Given the description of an element on the screen output the (x, y) to click on. 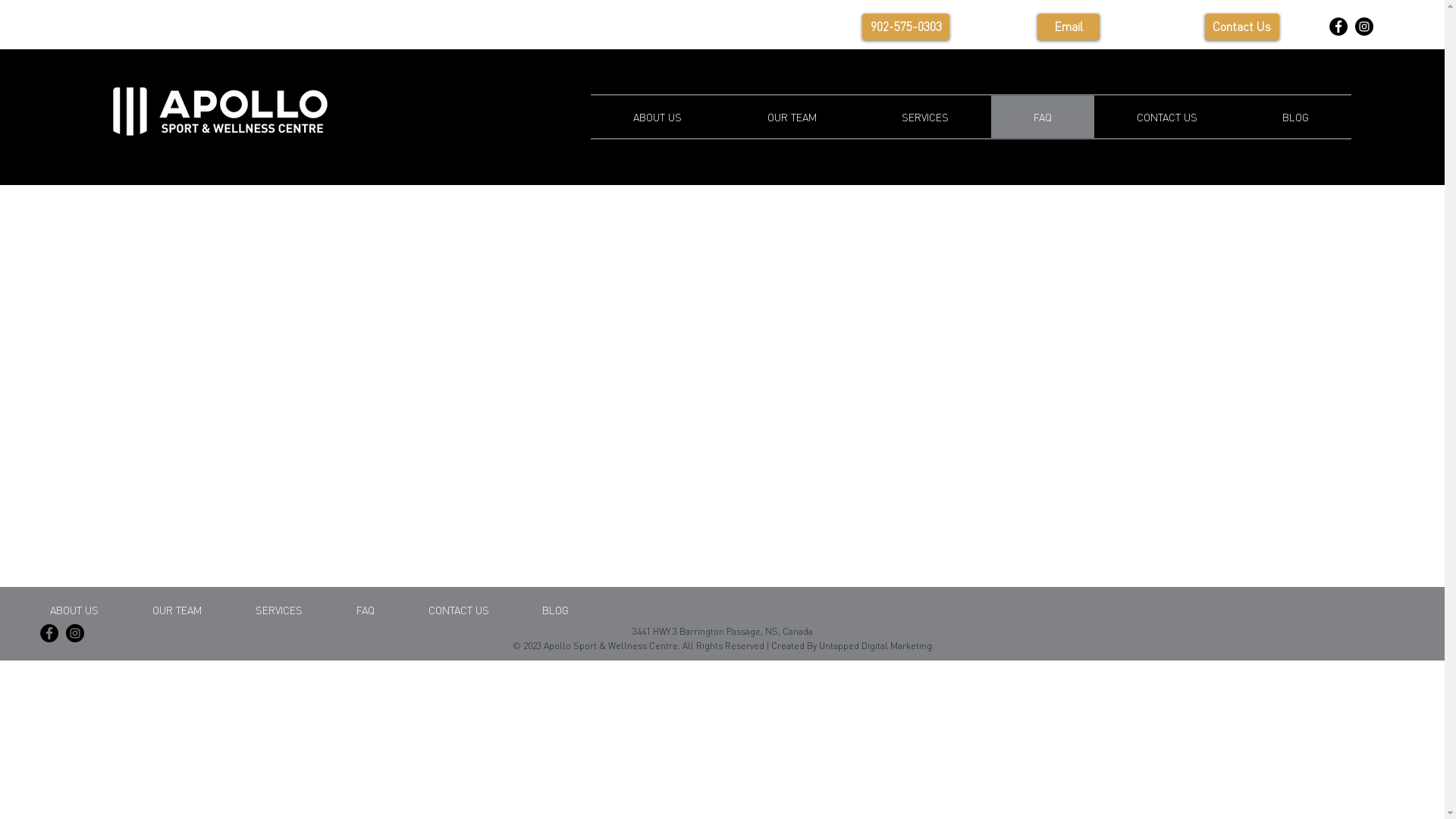
Contact Us Element type: text (1241, 26)
Email Element type: text (1068, 26)
OUR TEAM Element type: text (177, 609)
ABOUT US Element type: text (657, 116)
CONTACT US Element type: text (1166, 116)
902-575-0303 Element type: text (905, 26)
ABOUT US Element type: text (74, 609)
BLOG Element type: text (555, 609)
BLOG Element type: text (1295, 116)
SERVICES Element type: text (925, 116)
FAQ Element type: text (365, 609)
OUR TEAM Element type: text (791, 116)
CONTACT US Element type: text (458, 609)
FAQ Element type: text (1042, 116)
SERVICES Element type: text (279, 609)
